Given the description of an element on the screen output the (x, y) to click on. 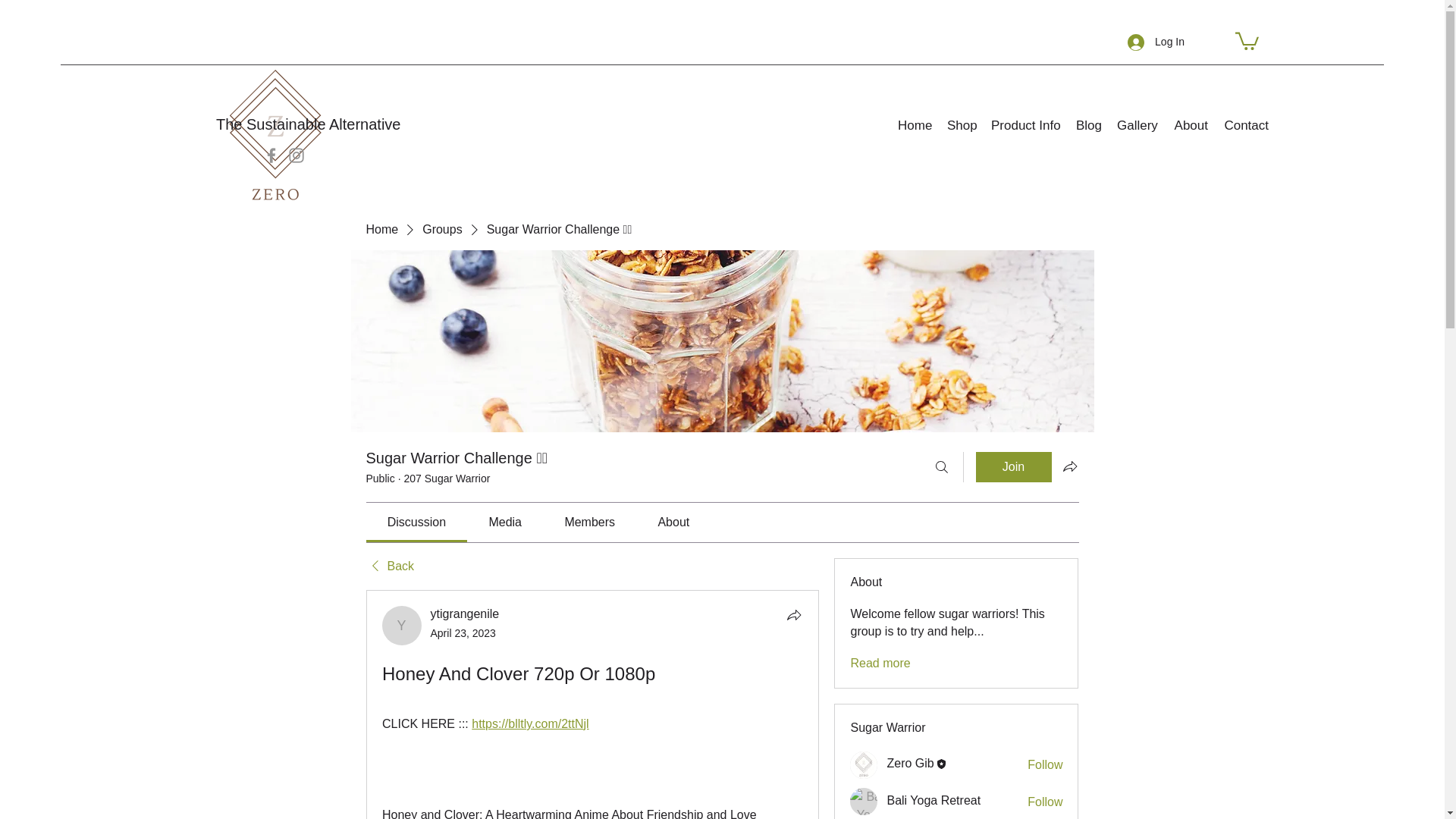
ytigrangenile (464, 613)
Home (914, 125)
ytigrangenile (401, 625)
Groups (441, 229)
About (1189, 125)
April 23, 2023 (463, 633)
Home (381, 229)
Zero Gib (909, 762)
Product Info (1025, 125)
Gallery (1136, 125)
